Given the description of an element on the screen output the (x, y) to click on. 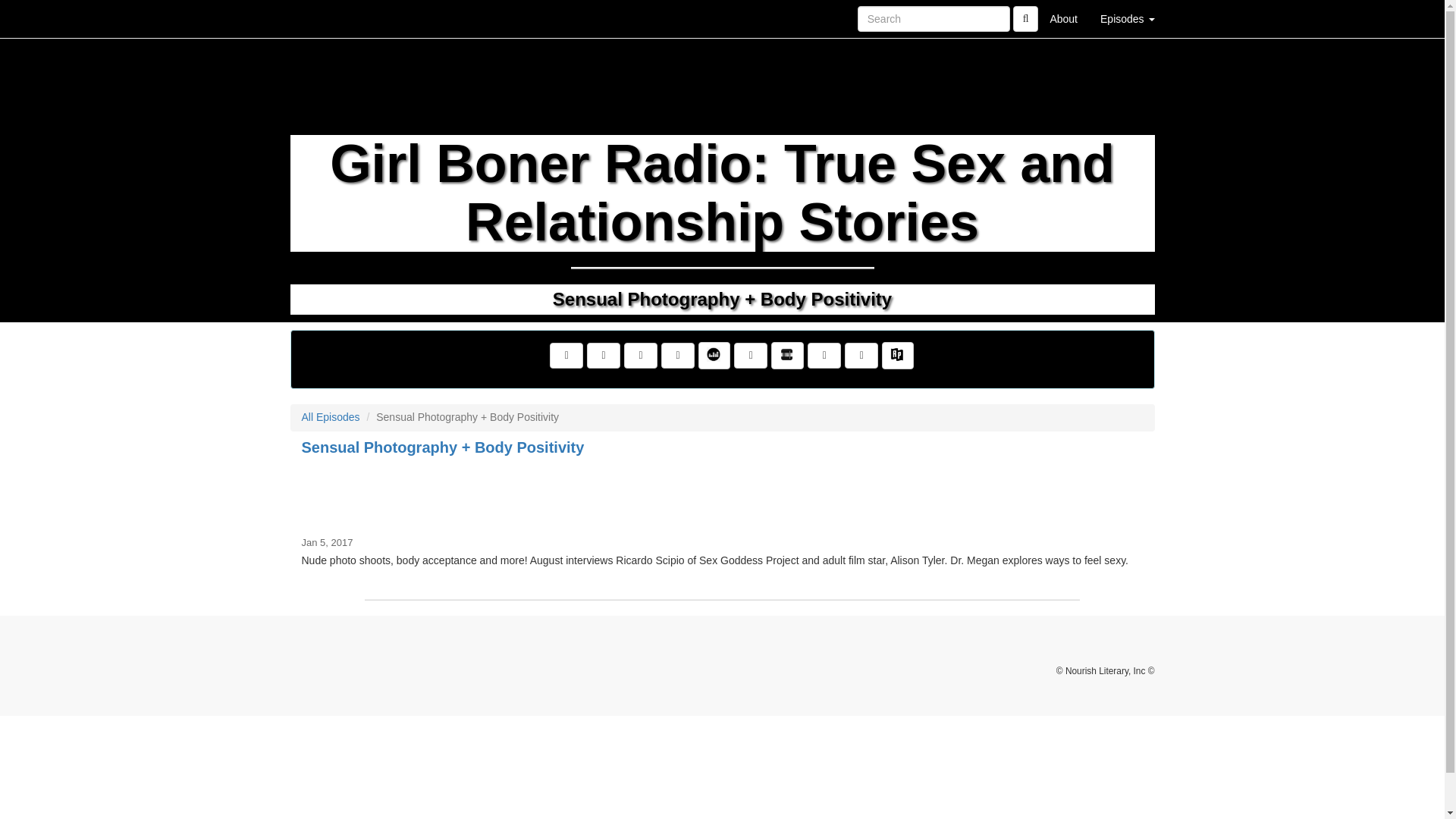
Episodes (1127, 18)
About (1063, 18)
Home Page (320, 18)
